Given the description of an element on the screen output the (x, y) to click on. 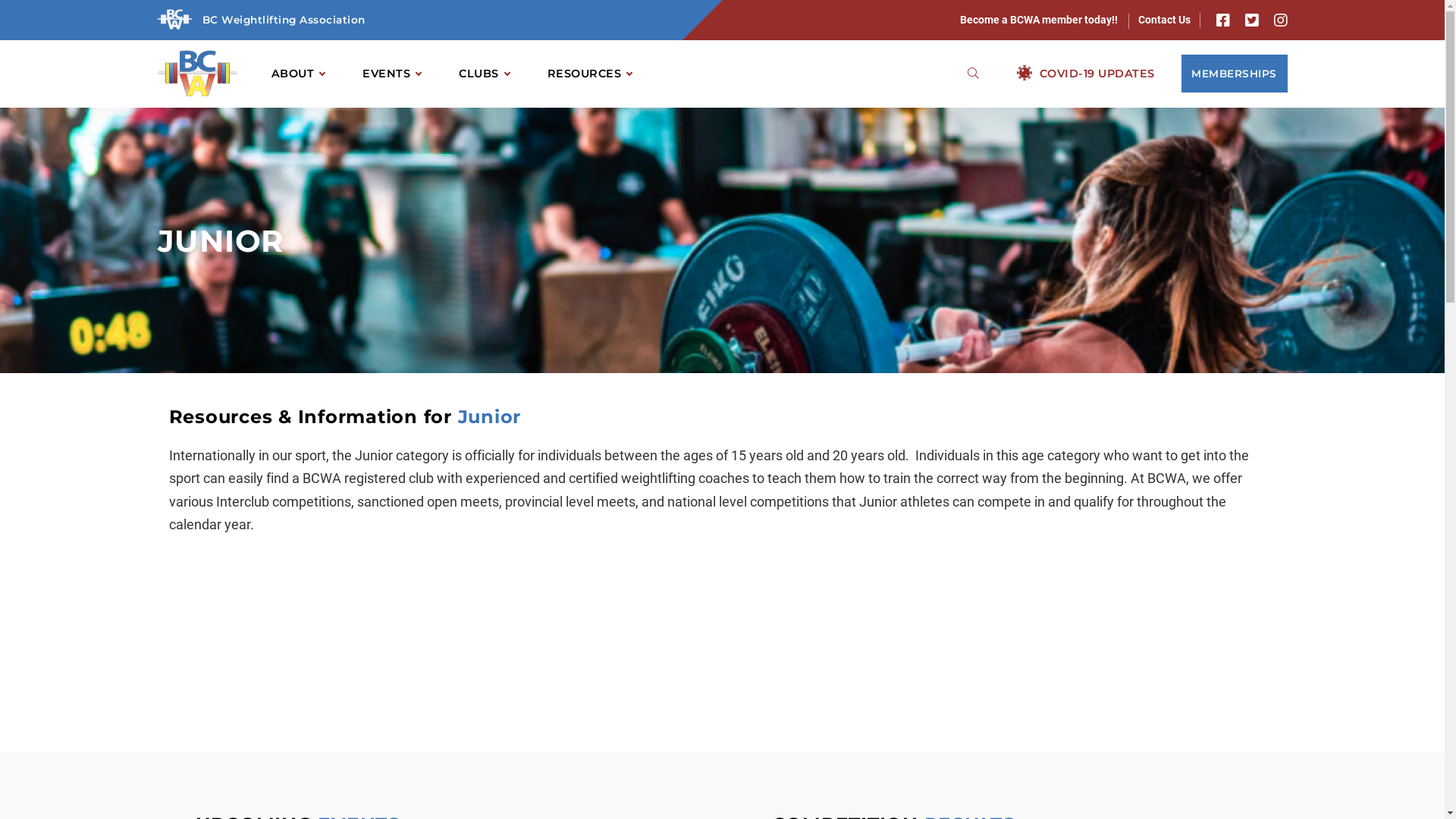
COVID-19 UPDATES Element type: text (1085, 73)
Become a BCWA member today!!  Element type: text (1040, 19)
MEMBERSHIPS Element type: text (1234, 73)
EVENTS Element type: text (391, 73)
RESOURCES Element type: text (588, 73)
CLUBS Element type: text (483, 73)
ABOUT Element type: text (297, 73)
BC Weightlifting Association Home Page Element type: hover (197, 73)
Contact Us Element type: text (1163, 19)
